Given the description of an element on the screen output the (x, y) to click on. 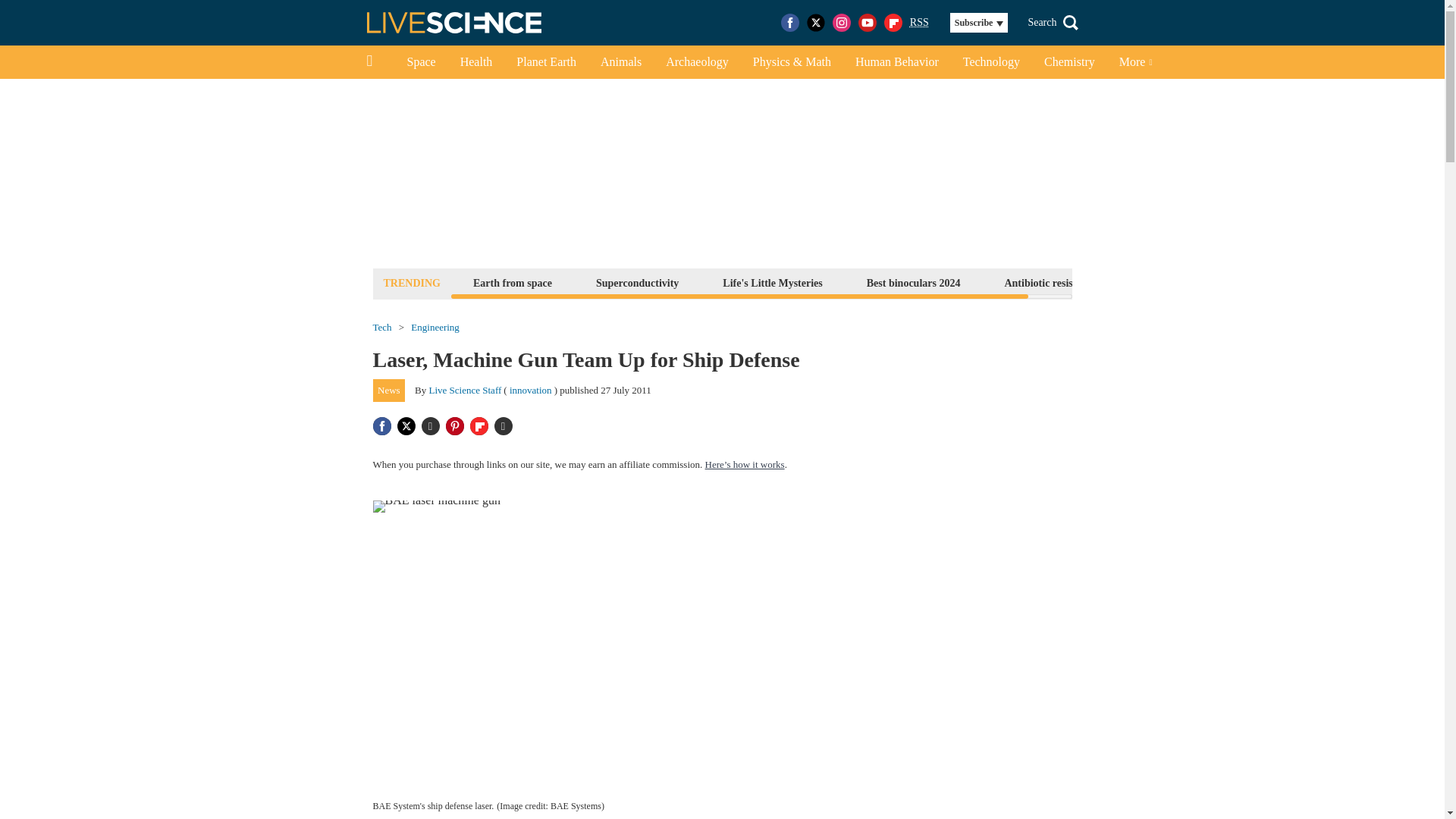
Really Simple Syndication (919, 21)
innovation (530, 389)
Chemistry (1069, 61)
Live Science Staff (465, 389)
Space (420, 61)
Earth from space (512, 282)
Superconductivity (637, 282)
Archaeology (697, 61)
Technology (991, 61)
News (389, 390)
